Given the description of an element on the screen output the (x, y) to click on. 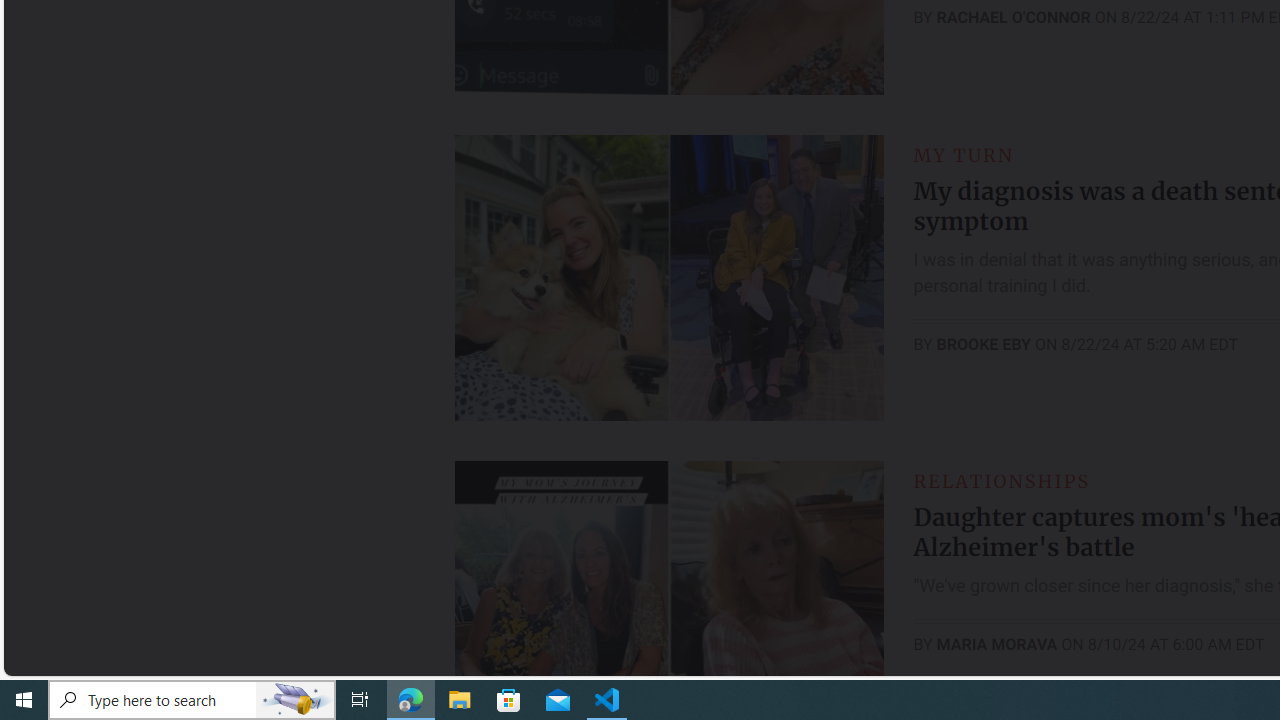
RELATIONSHIPS (1001, 480)
MY TURN (963, 155)
